Given the description of an element on the screen output the (x, y) to click on. 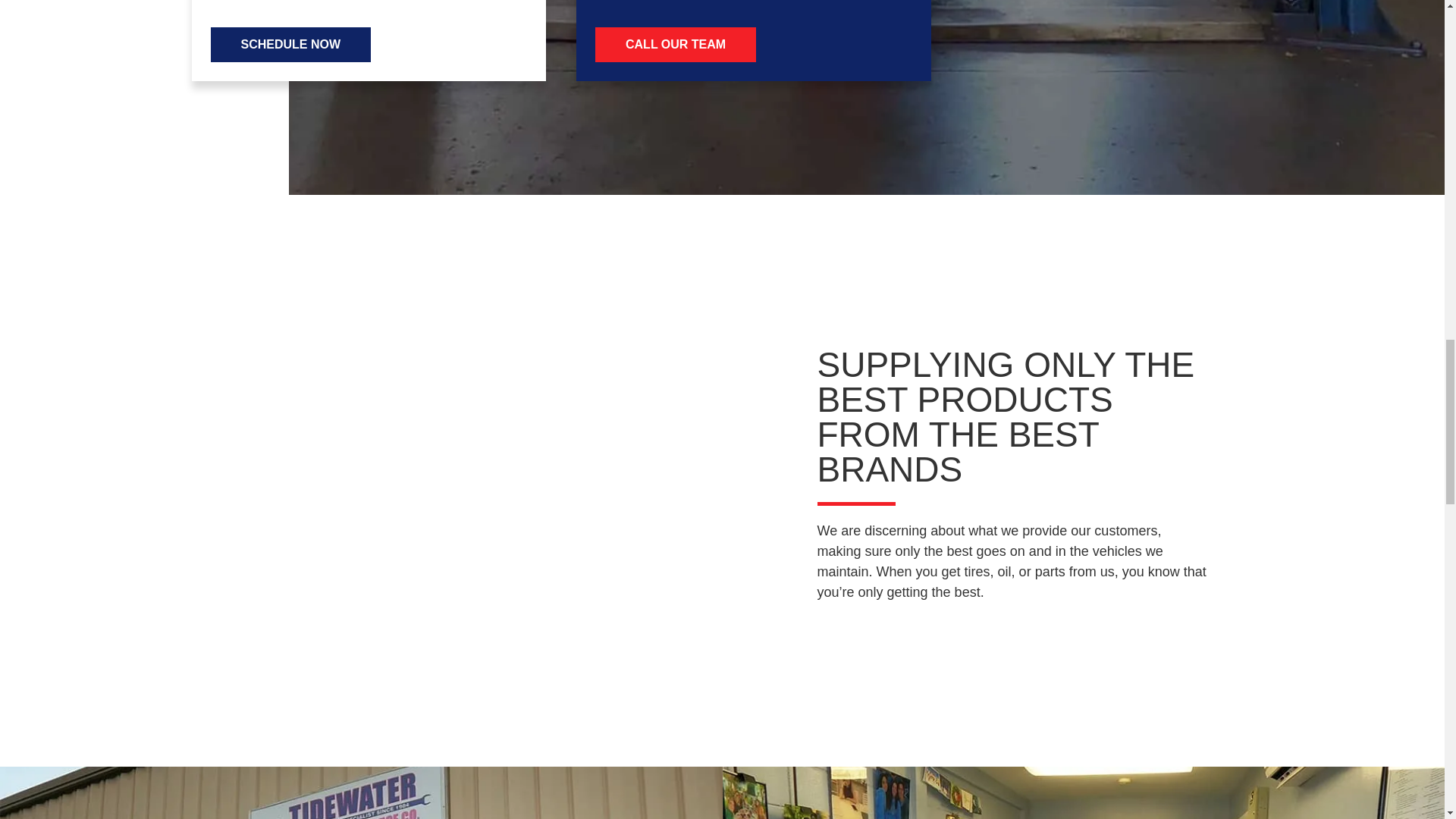
SCHEDULE NOW (291, 44)
CALL OUR TEAM (675, 44)
